Given the description of an element on the screen output the (x, y) to click on. 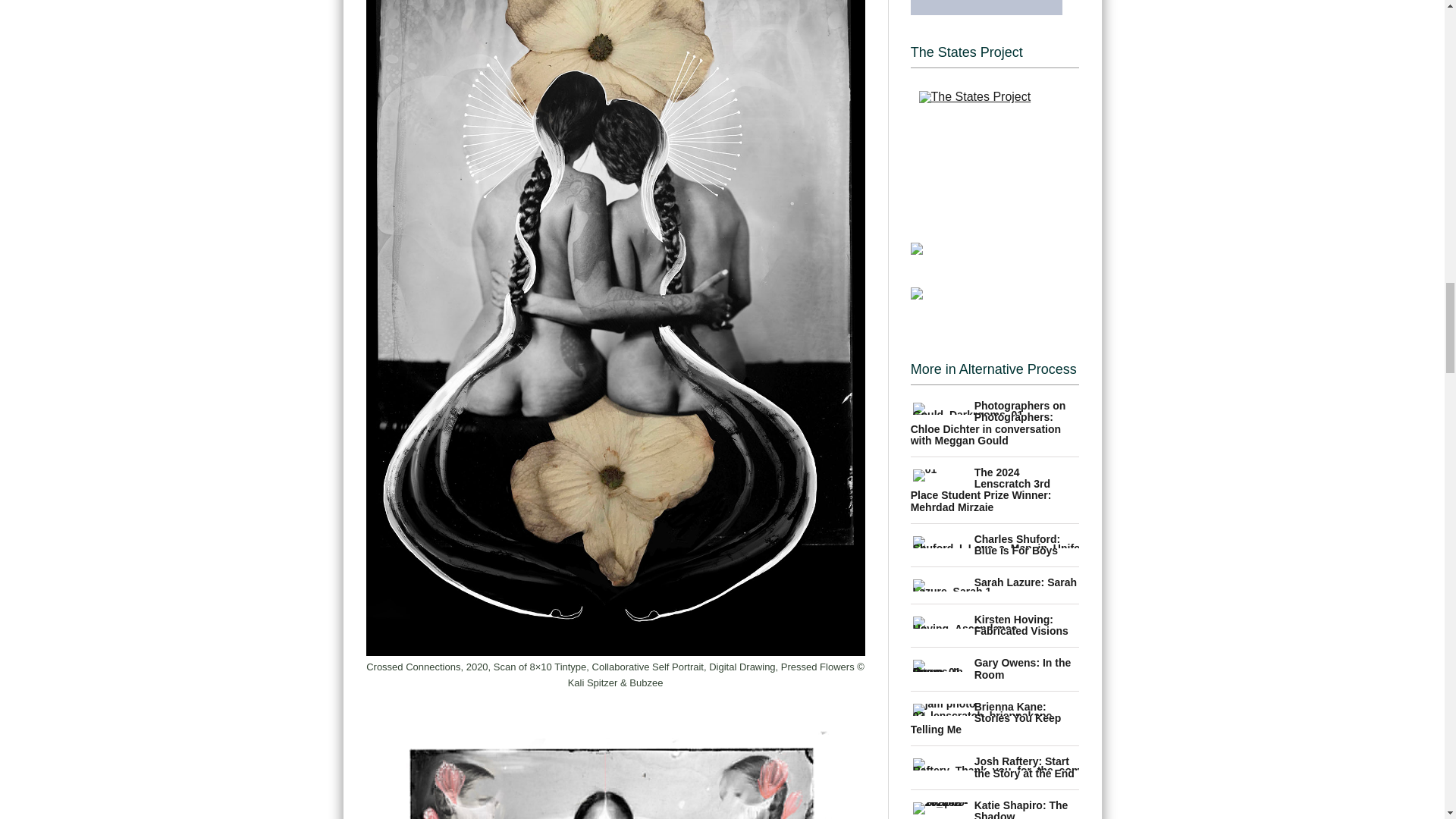
The States Project (994, 139)
Permalink to: Charles Shuford: Blue is For Boys (1017, 544)
Permalink to: Sarah Lazure: Sarah (1025, 582)
